Given the description of an element on the screen output the (x, y) to click on. 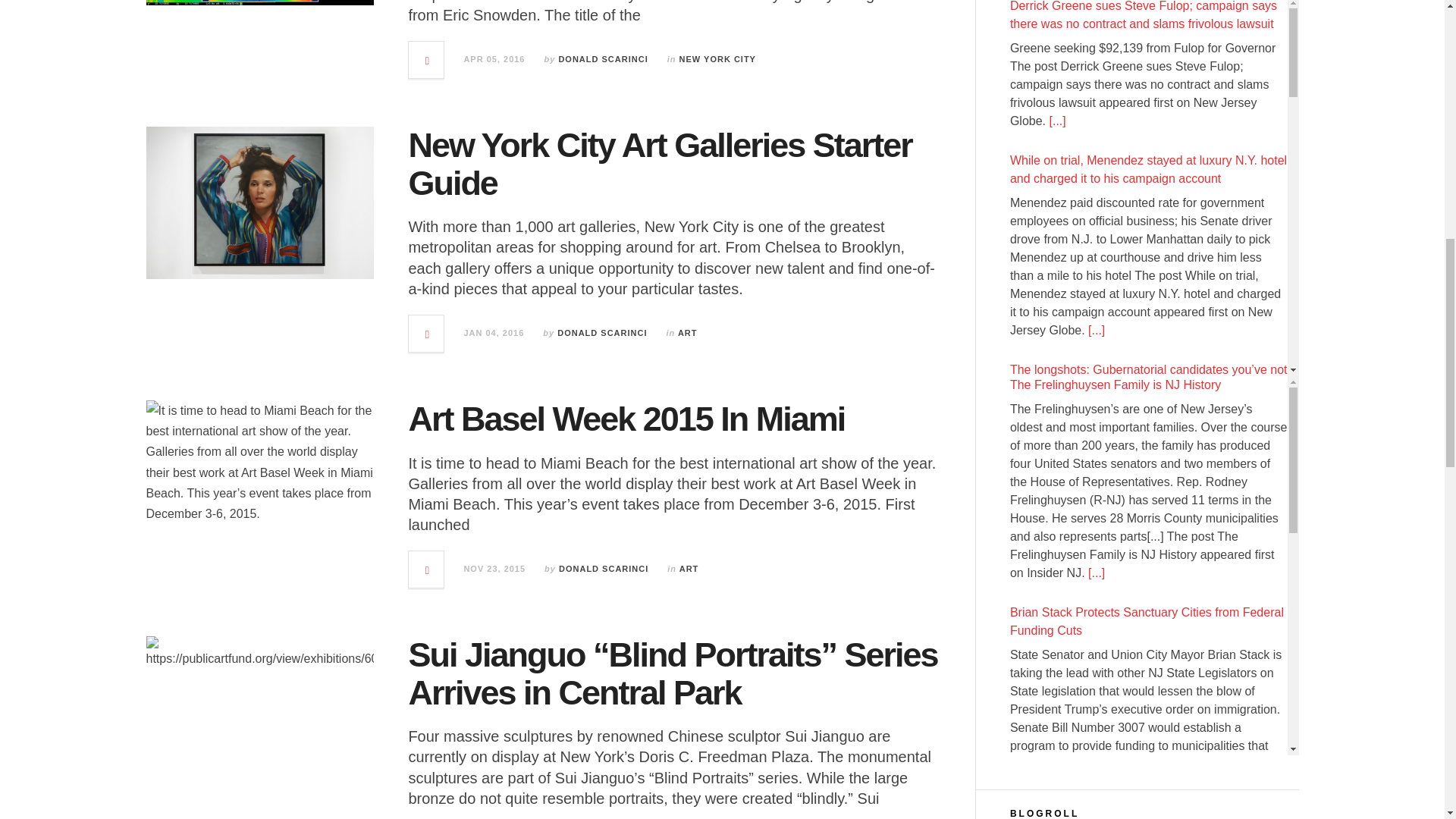
New York City Art Galleries Starter Guide (659, 164)
Read More... (427, 569)
Posts by Donald Scarinci (601, 332)
Posts by Donald Scarinci (602, 58)
View all posts in Art (687, 332)
DONALD SCARINCI (602, 58)
View all posts in New York City (717, 58)
DONALD SCARINCI (601, 332)
NEW YORK CITY (717, 58)
Posts by Donald Scarinci (603, 568)
ART (687, 332)
View all posts in Art (688, 568)
Read More... (427, 333)
Read More... (427, 59)
